Given the description of an element on the screen output the (x, y) to click on. 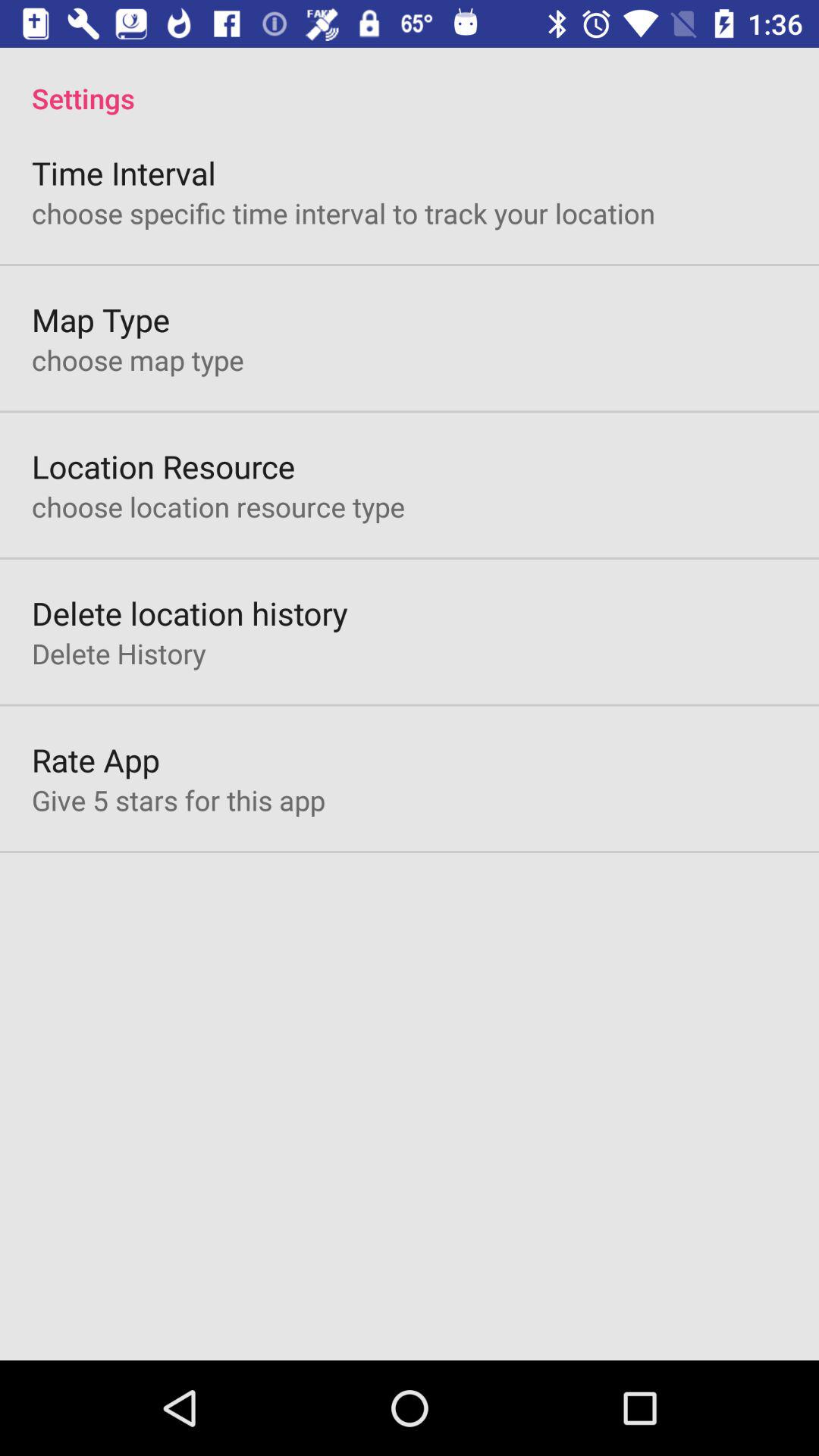
tap the app below delete history item (95, 759)
